Given the description of an element on the screen output the (x, y) to click on. 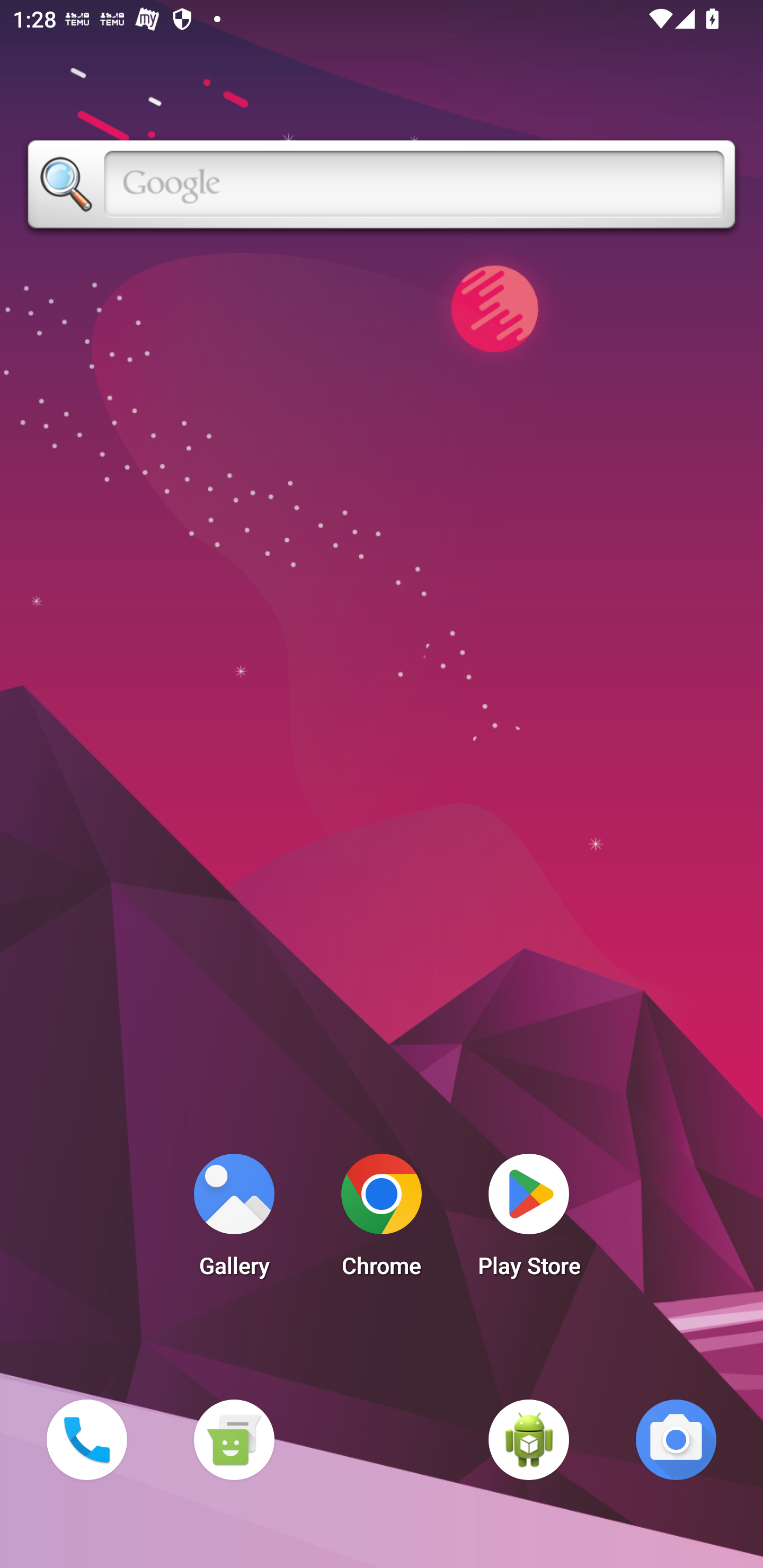
Gallery (233, 1220)
Chrome (381, 1220)
Play Store (528, 1220)
Phone (86, 1439)
Messaging (233, 1439)
WebView Browser Tester (528, 1439)
Camera (676, 1439)
